Given the description of an element on the screen output the (x, y) to click on. 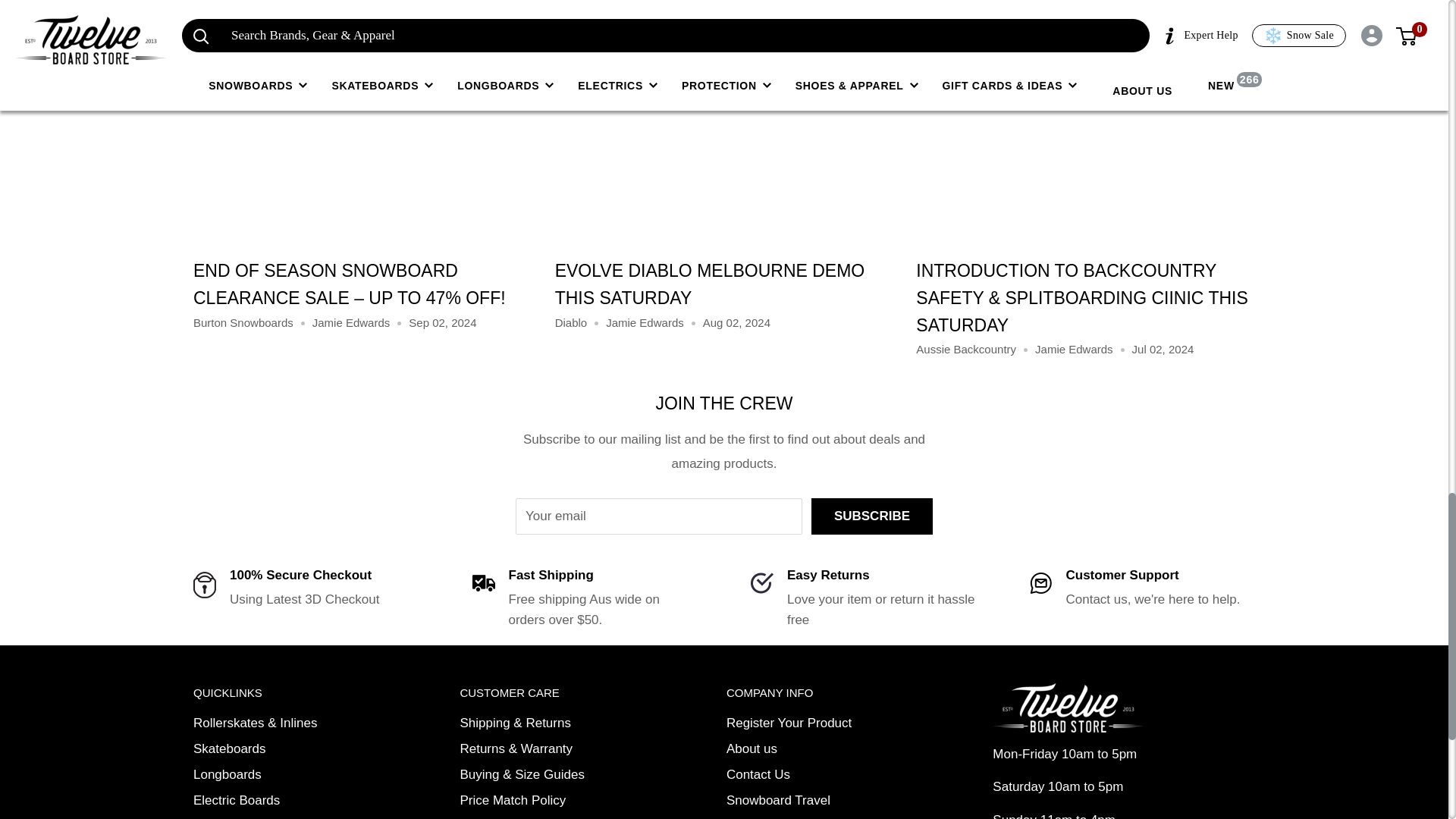
Snowboards (280, 816)
Skateboards (280, 749)
Price Match Policy (546, 800)
Longboards (280, 774)
LayBy Policy (546, 816)
About us (813, 749)
Register Your Product (813, 723)
Electric Boards (280, 800)
